Given the description of an element on the screen output the (x, y) to click on. 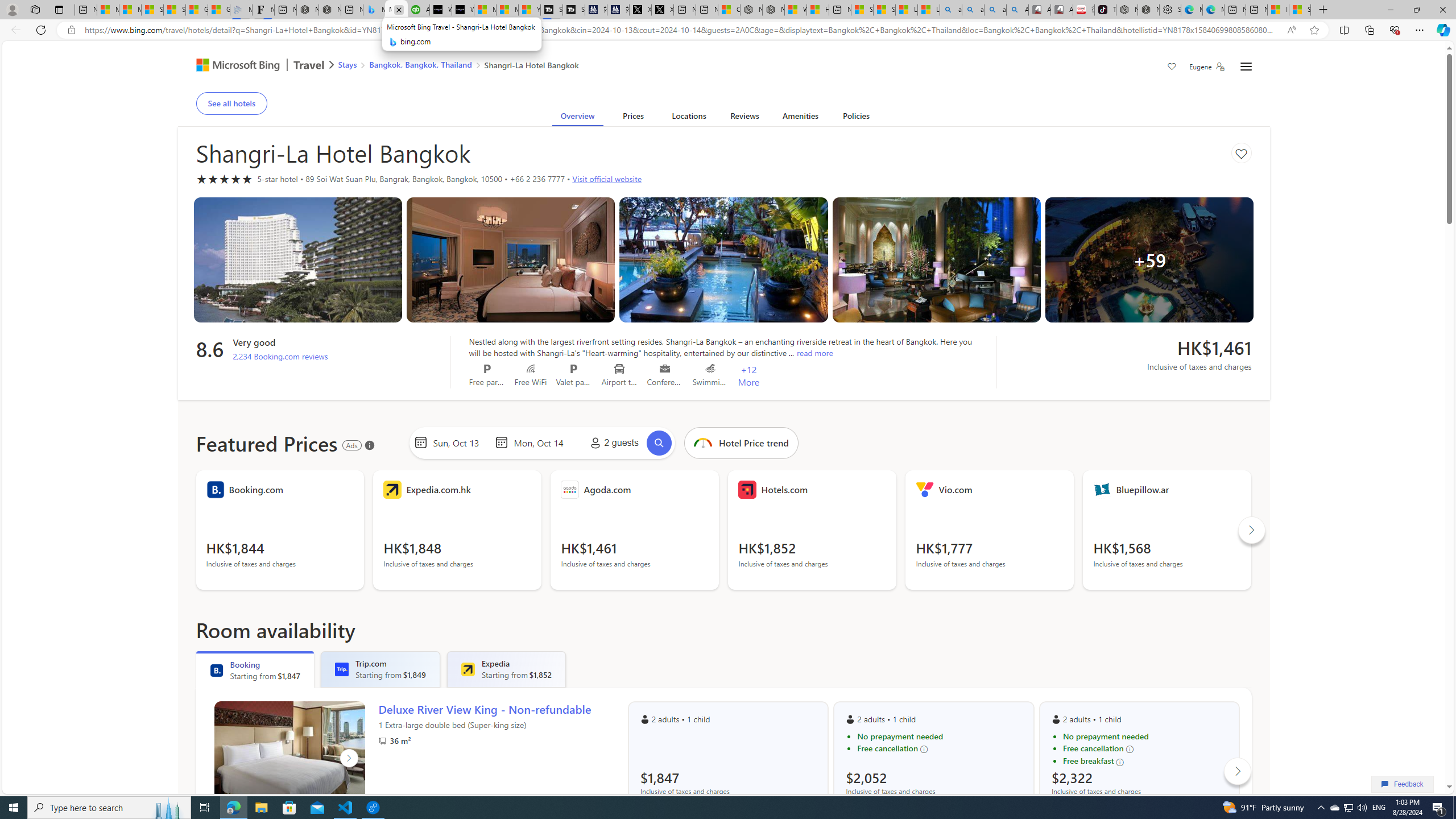
Nordace - Summer Adventures 2024 (773, 9)
Workspaces (34, 9)
Minimize (1390, 9)
Settings (1245, 67)
Travel (308, 65)
Hotel room image (936, 259)
Reviews (744, 118)
Valet parking (574, 368)
Add this page to favorites (Ctrl+D) (1314, 29)
Personal Profile (12, 9)
Settings and more (Alt+F) (1419, 29)
